Given the description of an element on the screen output the (x, y) to click on. 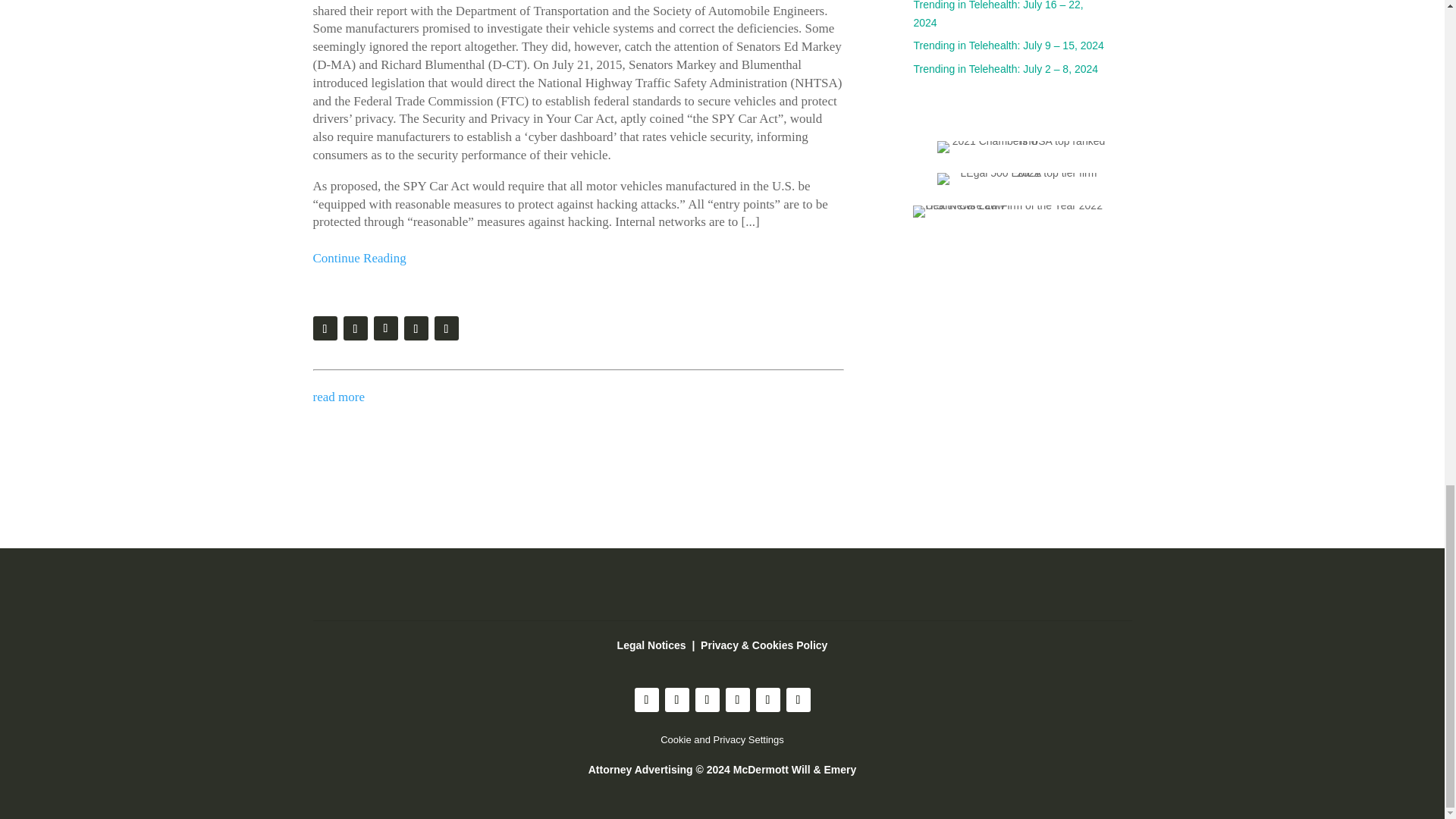
Share on LinkedIn (445, 328)
Share on Facebook (415, 328)
E-Mail (354, 328)
Print (324, 328)
Share on X (384, 328)
